Given the description of an element on the screen output the (x, y) to click on. 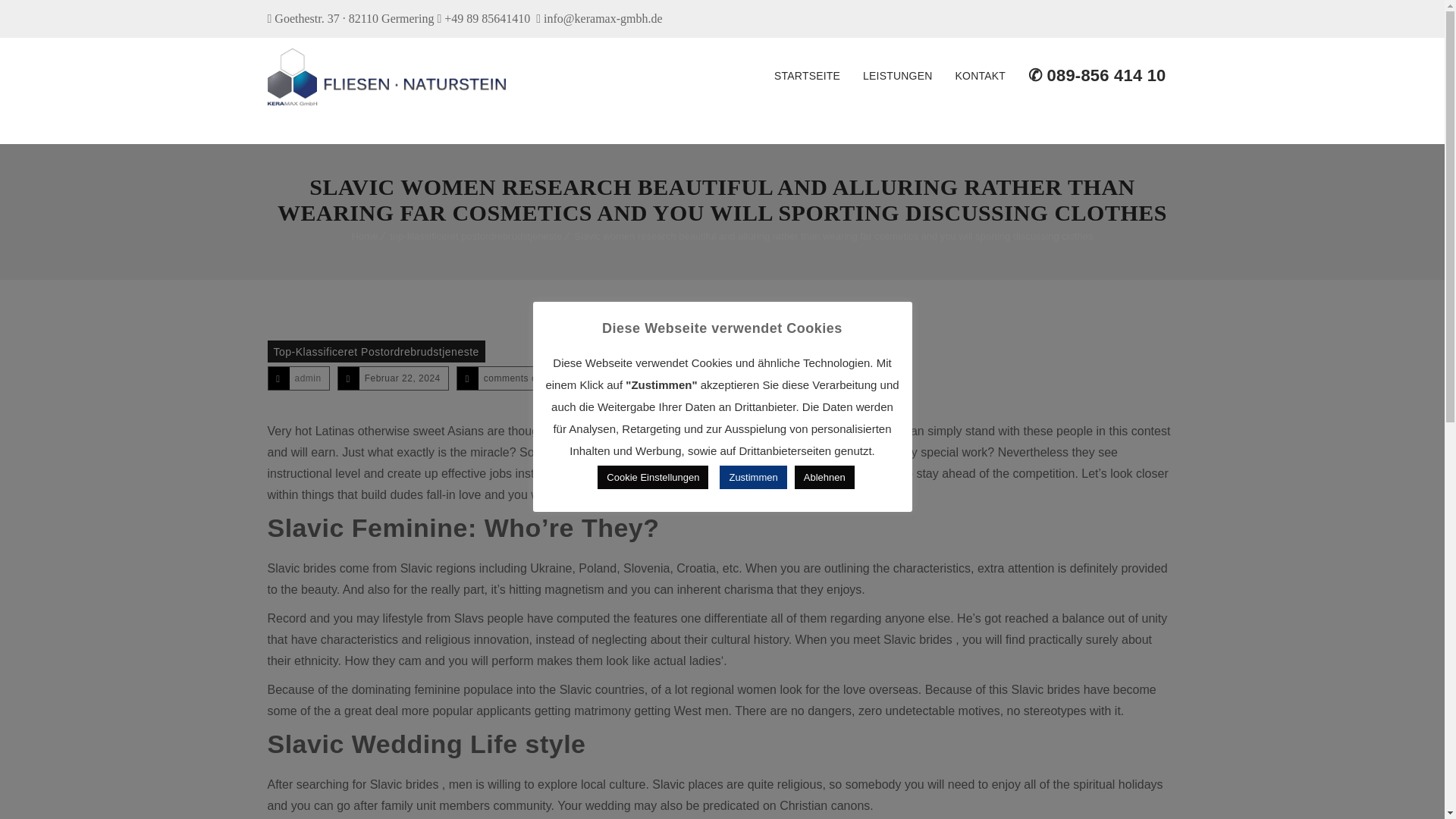
admin (307, 378)
Ablehnen (824, 477)
Cookie Einstellungen (651, 477)
LEISTUNGEN (897, 75)
View all posts by admin (307, 378)
Home (365, 235)
KONTAKT (979, 75)
STARTSEITE (806, 75)
top-klassificeret postordrebrudstjeneste (476, 235)
Zustimmen (752, 477)
Top-Klassificeret Postordrebrudstjeneste (375, 351)
